Given the description of an element on the screen output the (x, y) to click on. 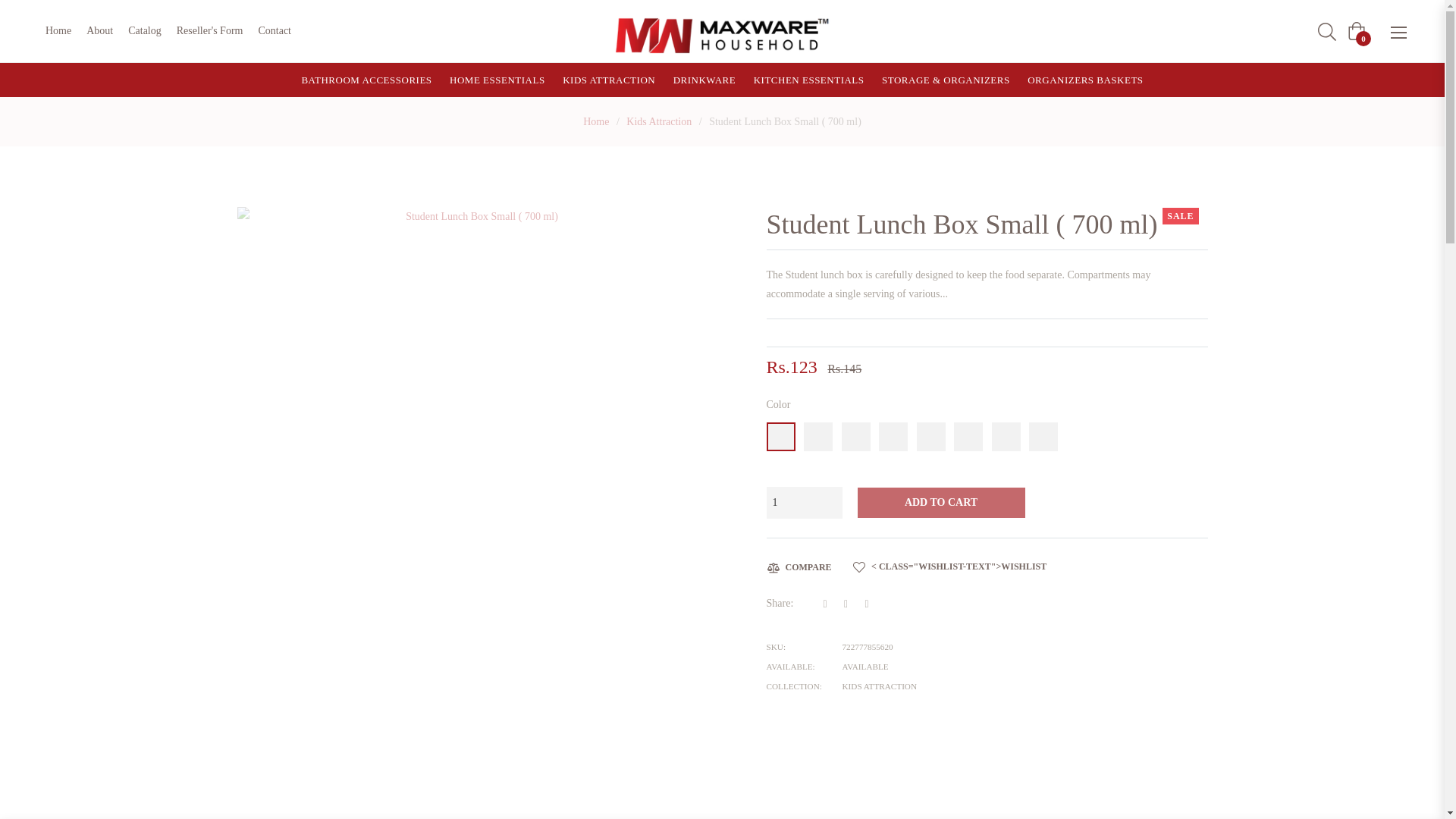
Reseller'S Form (209, 30)
Green (1043, 436)
Purple (967, 436)
KIDS ATTRACTION (608, 79)
Dark Blue (855, 436)
Home (595, 121)
Light Blue (817, 436)
